Given the description of an element on the screen output the (x, y) to click on. 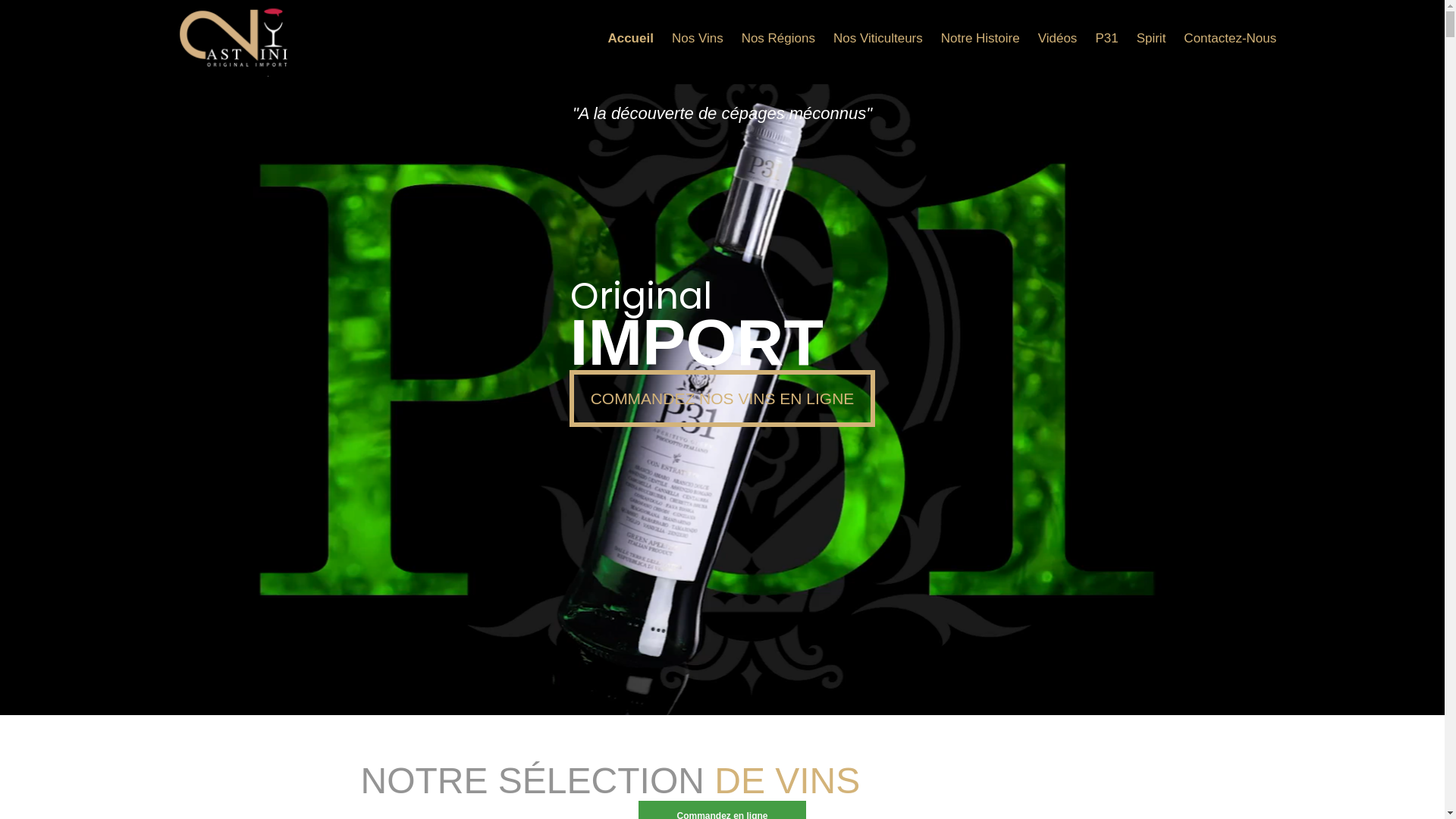
Notre Histoire Element type: text (980, 37)
Accueil Element type: text (629, 37)
Contactez-Nous Element type: text (1229, 37)
P31 Element type: text (1106, 37)
COMMANDEZ NOS VINS EN LIGNE Element type: text (722, 398)
Nos Viticulteurs Element type: text (877, 37)
Spirit Element type: text (1151, 37)
Nos Vins Element type: text (697, 37)
